Given the description of an element on the screen output the (x, y) to click on. 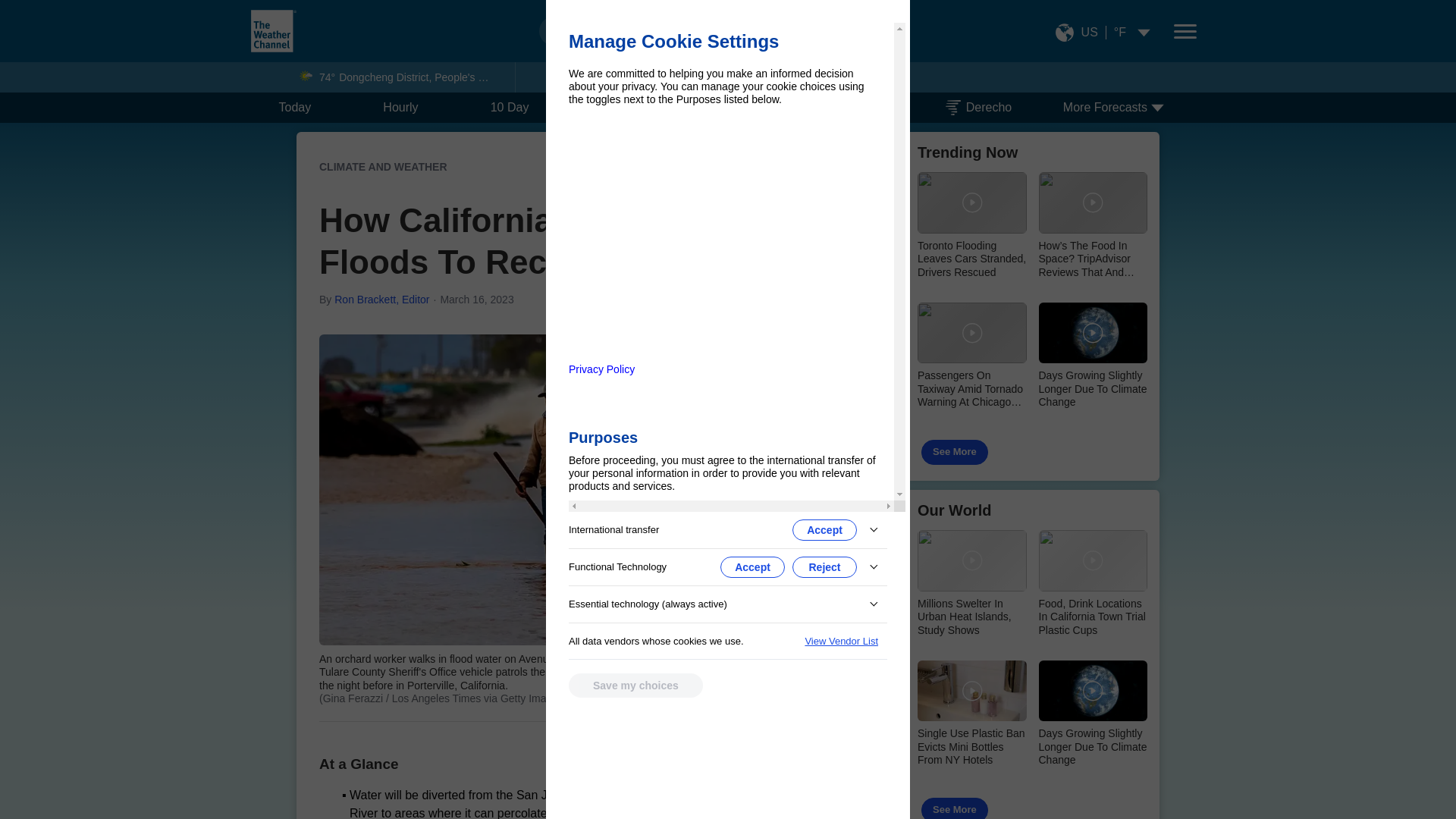
Ron Brackett, Editor (381, 299)
Today (295, 107)
Dongcheng District, People's Republic of China (421, 77)
Monthly (745, 107)
The Weather Channel (273, 30)
Derecho (978, 107)
10 Day (509, 107)
Radar (855, 107)
Weekend (626, 107)
More Forecasts (1130, 107)
Sign up for the Morning Brief email newsletter (711, 773)
Hourly (400, 107)
The Weather Channel (273, 31)
